Given the description of an element on the screen output the (x, y) to click on. 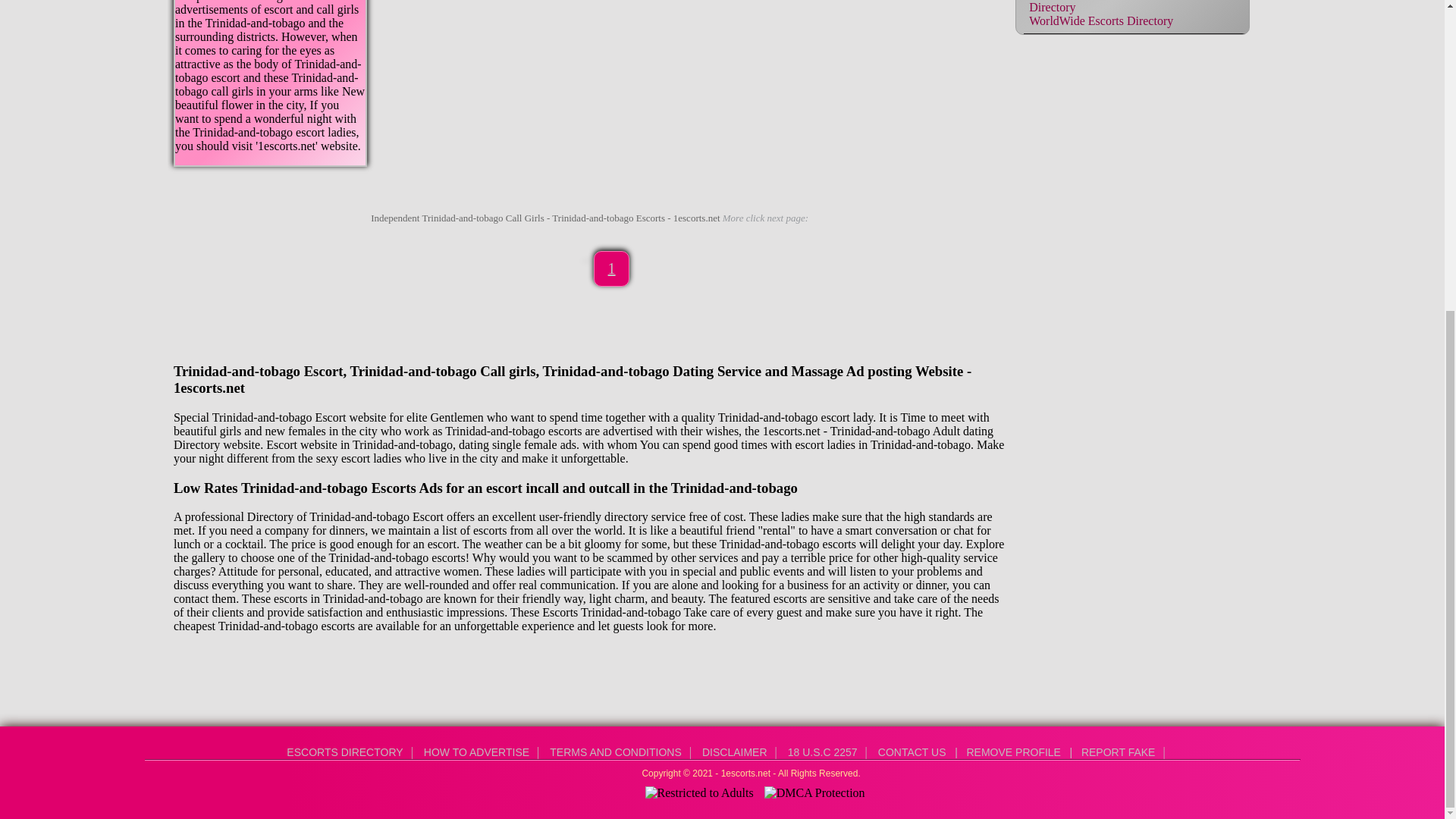
18 U.S.C 2257 (822, 752)
HOW TO ADVERTISE (476, 752)
TERMS AND CONDITIONS (614, 752)
DISCLAIMER (734, 752)
ESCORTS DIRECTORY (344, 752)
